Given the description of an element on the screen output the (x, y) to click on. 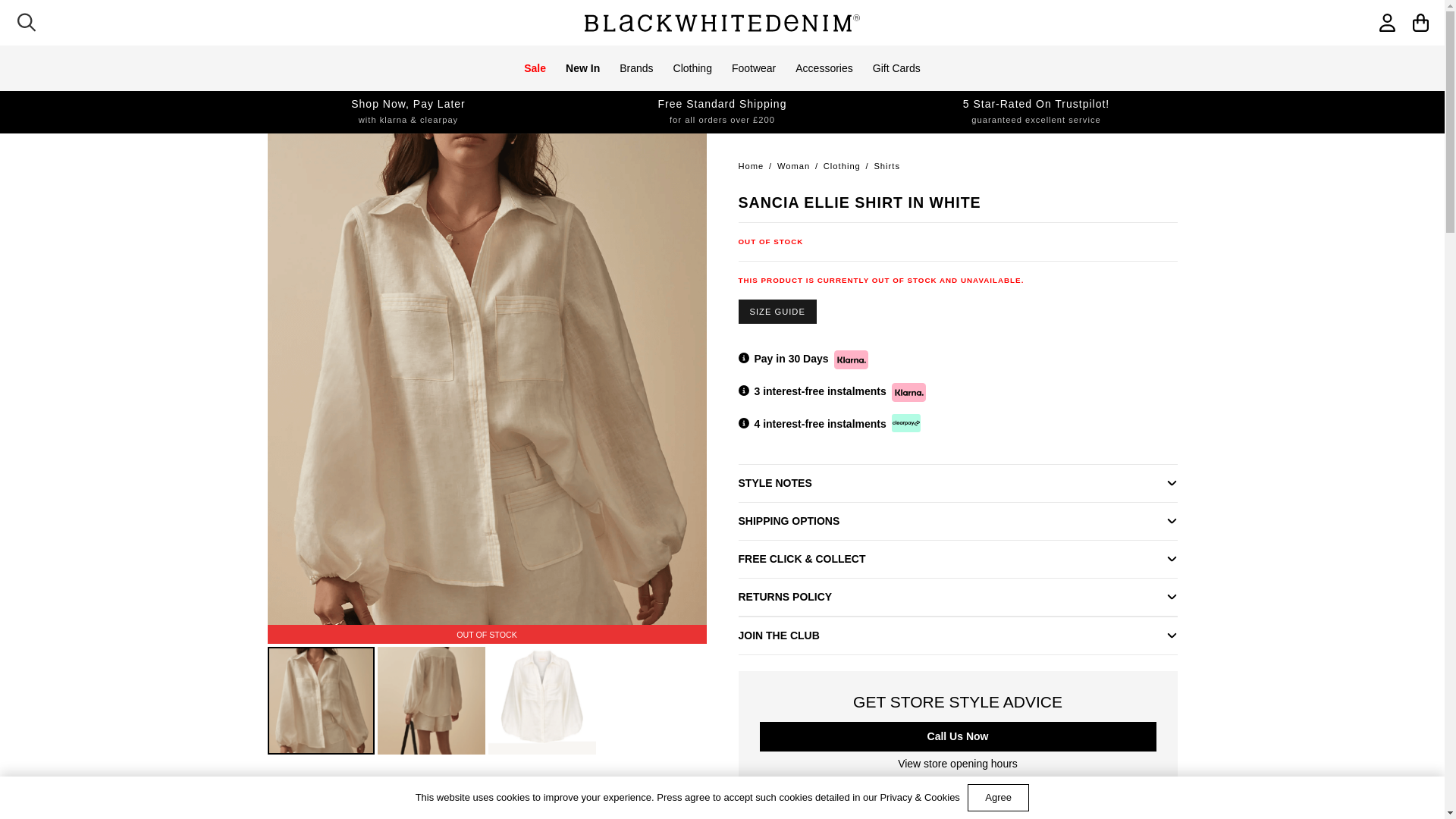
Clothing (692, 67)
Sale (534, 67)
Accessories (823, 67)
Gift Cards (896, 67)
Brands (636, 67)
Footwear (754, 67)
Login (1253, 49)
New In (583, 67)
